Given the description of an element on the screen output the (x, y) to click on. 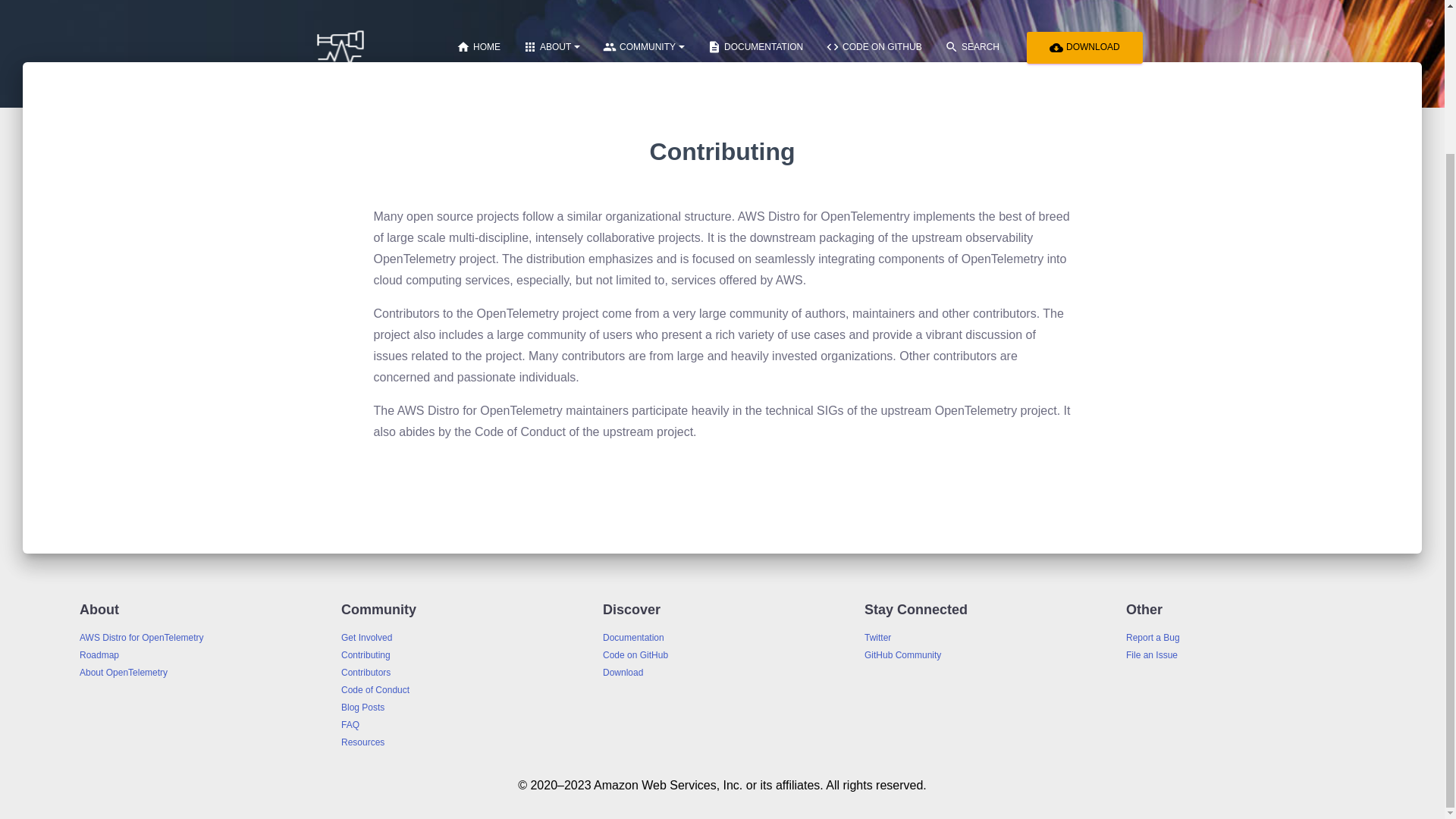
Documentation (632, 637)
Roadmap (99, 655)
Code on GitHub (635, 655)
Resources (362, 742)
Report a Bug (1152, 637)
Get Involved (365, 637)
AWS Distro for OpenTelemetry (141, 637)
Contributing (365, 655)
About OpenTelemetry (123, 672)
Code of Conduct (374, 689)
